Given the description of an element on the screen output the (x, y) to click on. 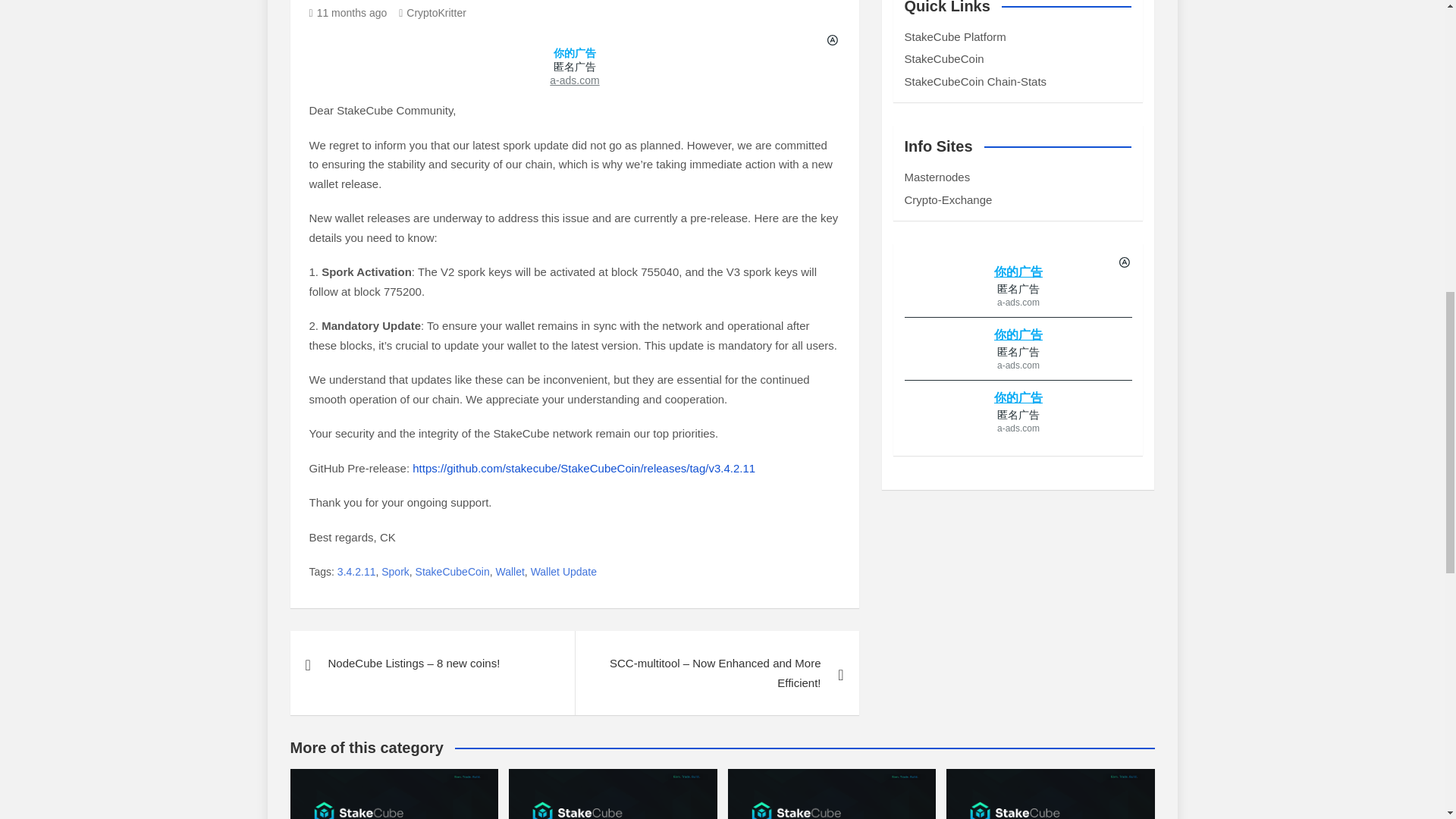
3.4.2.11 (356, 572)
11 months ago (347, 12)
Crypto-Exchange (947, 199)
CryptoKritter (431, 12)
Masternodes (936, 176)
Wallet (509, 572)
StakeCube Platform (955, 36)
Wallet Update (563, 572)
StakeCubeCoin (451, 572)
Spork (395, 572)
